Given the description of an element on the screen output the (x, y) to click on. 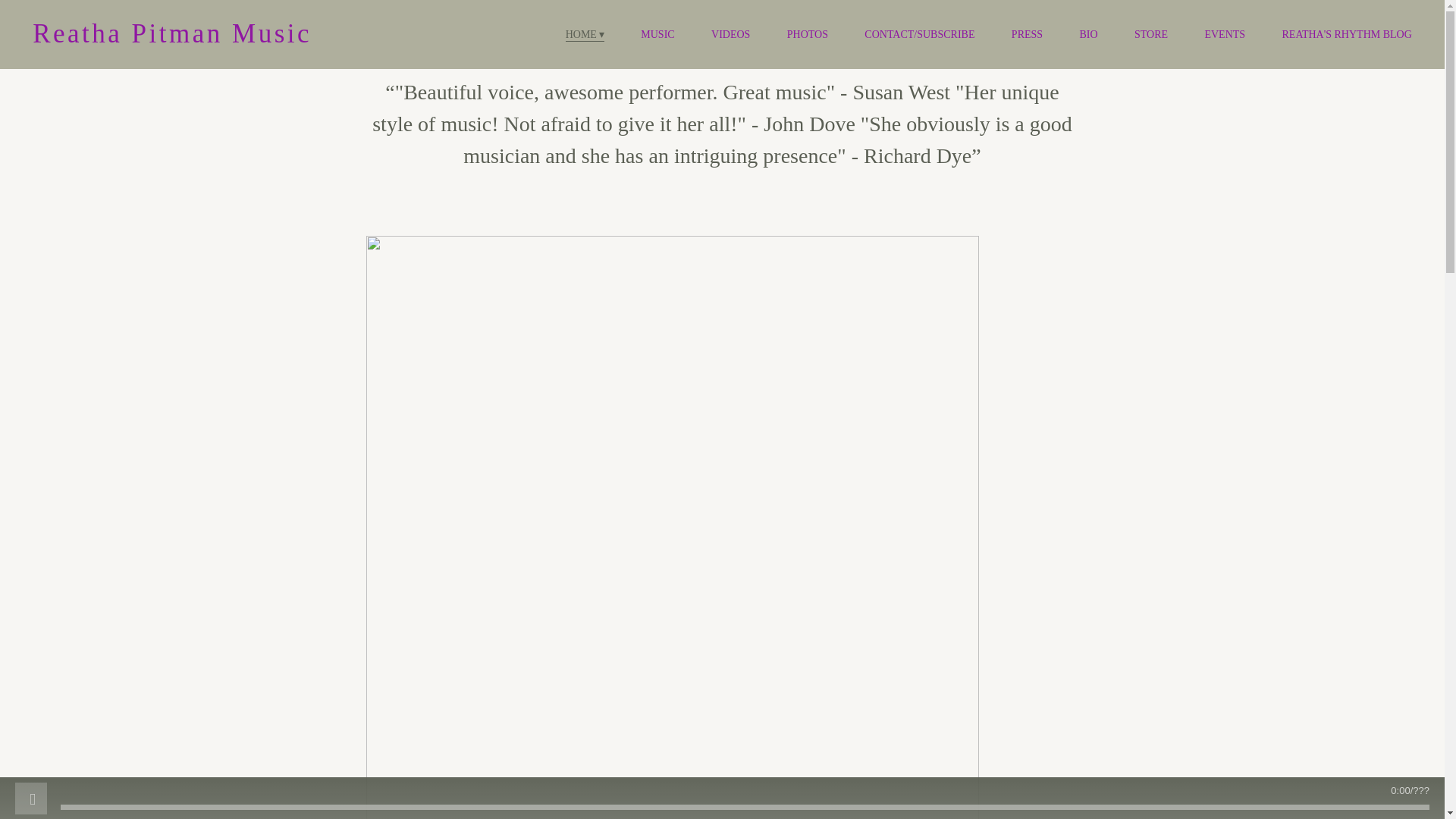
PRESS (1026, 34)
BIO (1087, 34)
Reatha Pitman Music (171, 34)
MUSIC (657, 34)
EVENTS (1224, 34)
VIDEOS (730, 34)
HOME (585, 34)
PHOTOS (807, 34)
STORE (1150, 34)
REATHA'S RHYTHM BLOG (1345, 34)
